Given the description of an element on the screen output the (x, y) to click on. 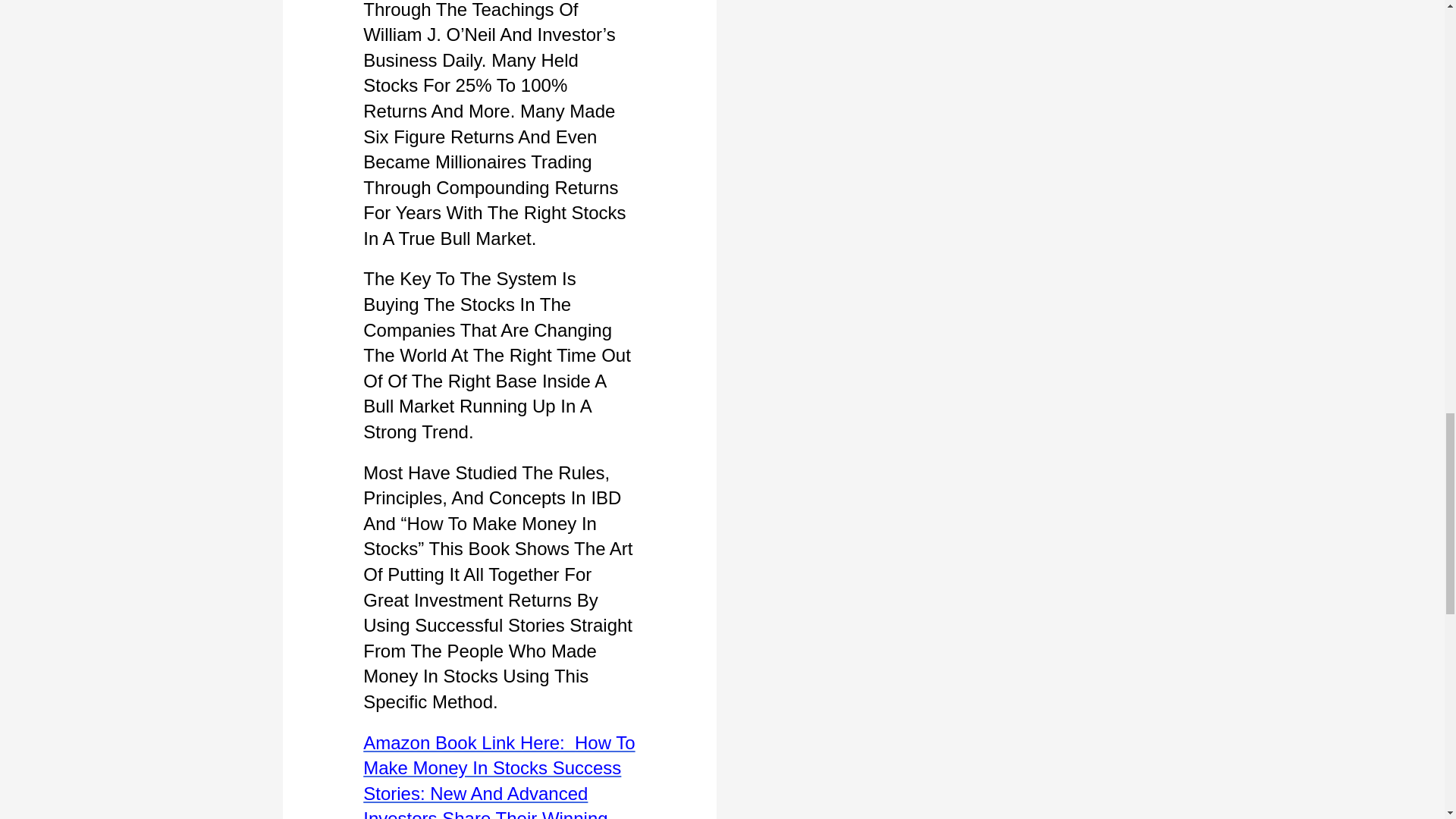
Click for book link (498, 775)
